Given the description of an element on the screen output the (x, y) to click on. 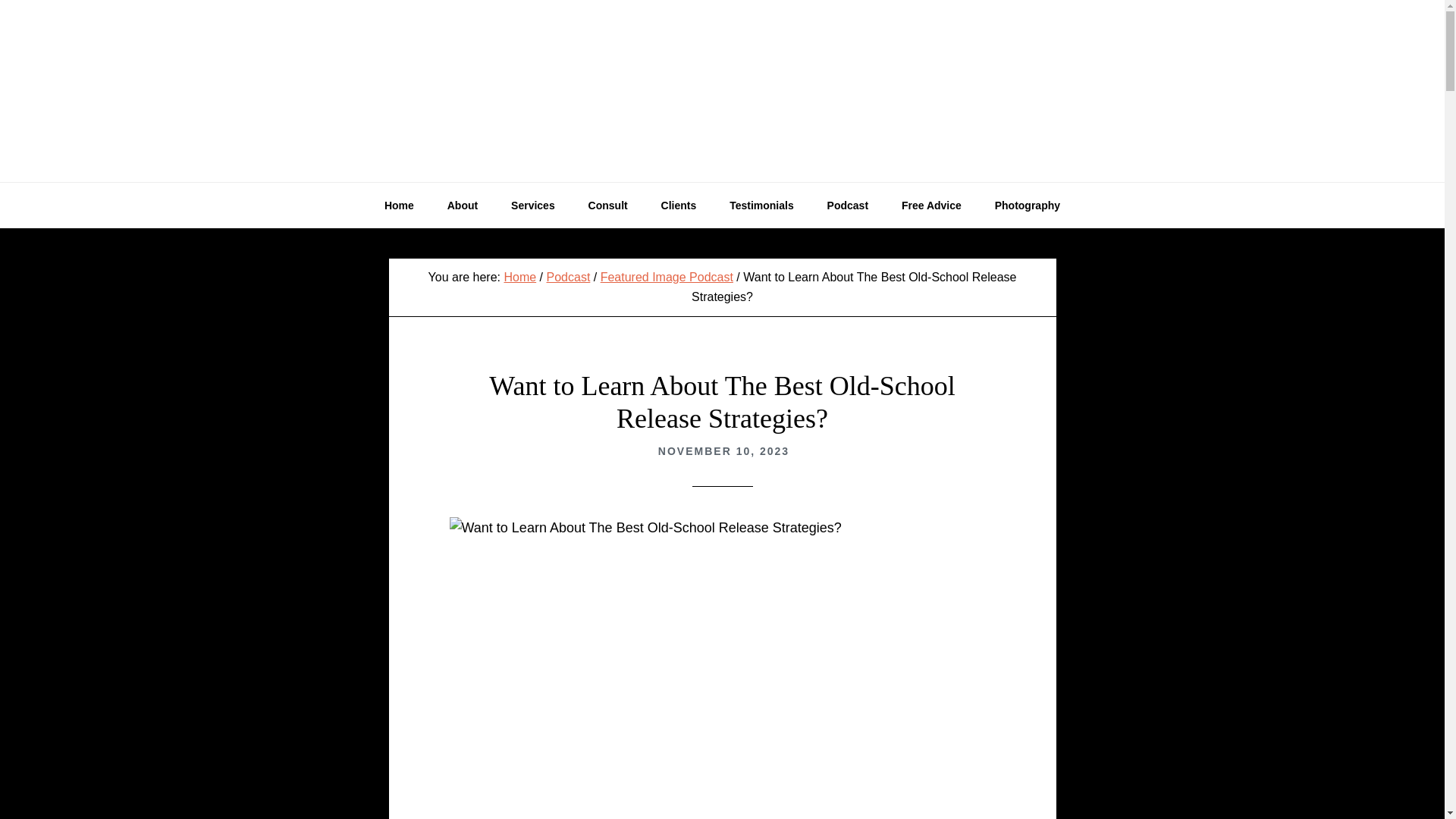
Free Advice (931, 205)
Featured Image Podcast (666, 277)
About (462, 205)
Testimonials (761, 205)
Home (399, 205)
Podcast (847, 205)
Consult (608, 205)
Sweetheart Pub (722, 91)
Services (533, 205)
